Given the description of an element on the screen output the (x, y) to click on. 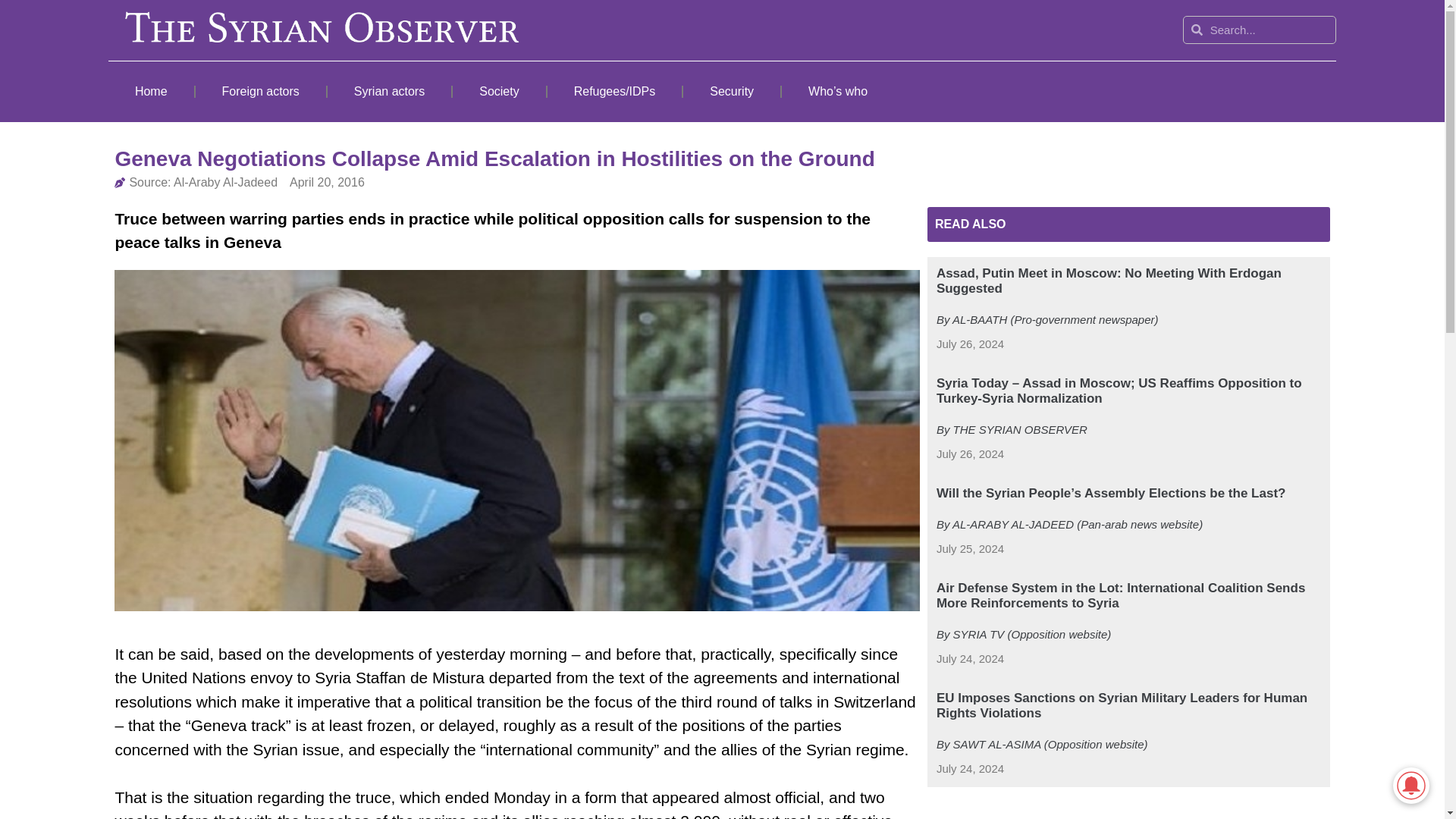
Home (150, 91)
July 26, 2024 (970, 343)
Society (498, 91)
July 25, 2024 (970, 548)
Security (731, 91)
Foreign actors (260, 91)
July 26, 2024 (970, 454)
July 24, 2024 (970, 769)
Syrian actors (389, 91)
July 24, 2024 (970, 659)
